Given the description of an element on the screen output the (x, y) to click on. 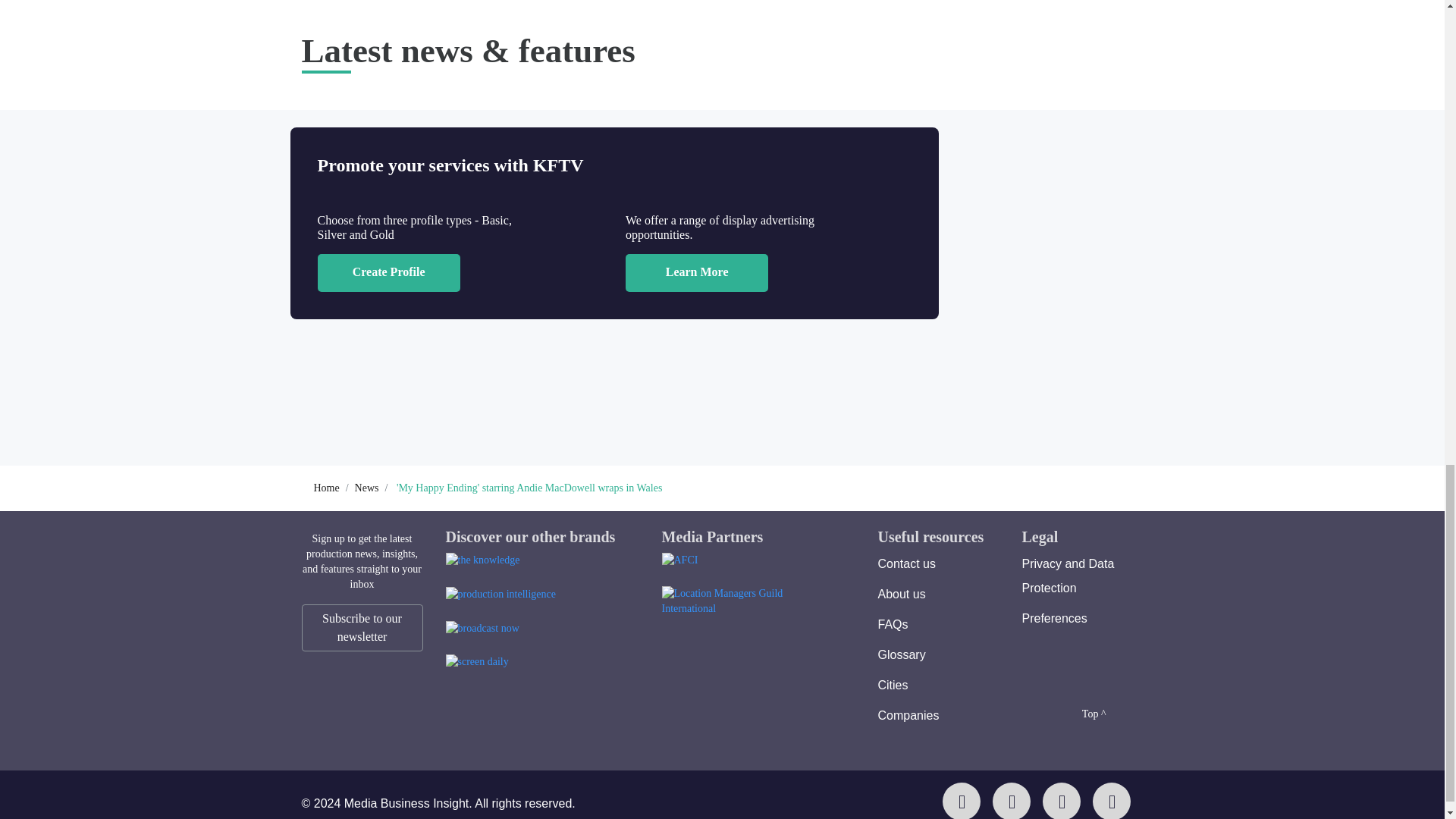
Subscribe to our newsletter (362, 627)
Contact us (906, 563)
Home (326, 487)
News (366, 487)
Learn More (697, 272)
Create Profile (388, 272)
